Given the description of an element on the screen output the (x, y) to click on. 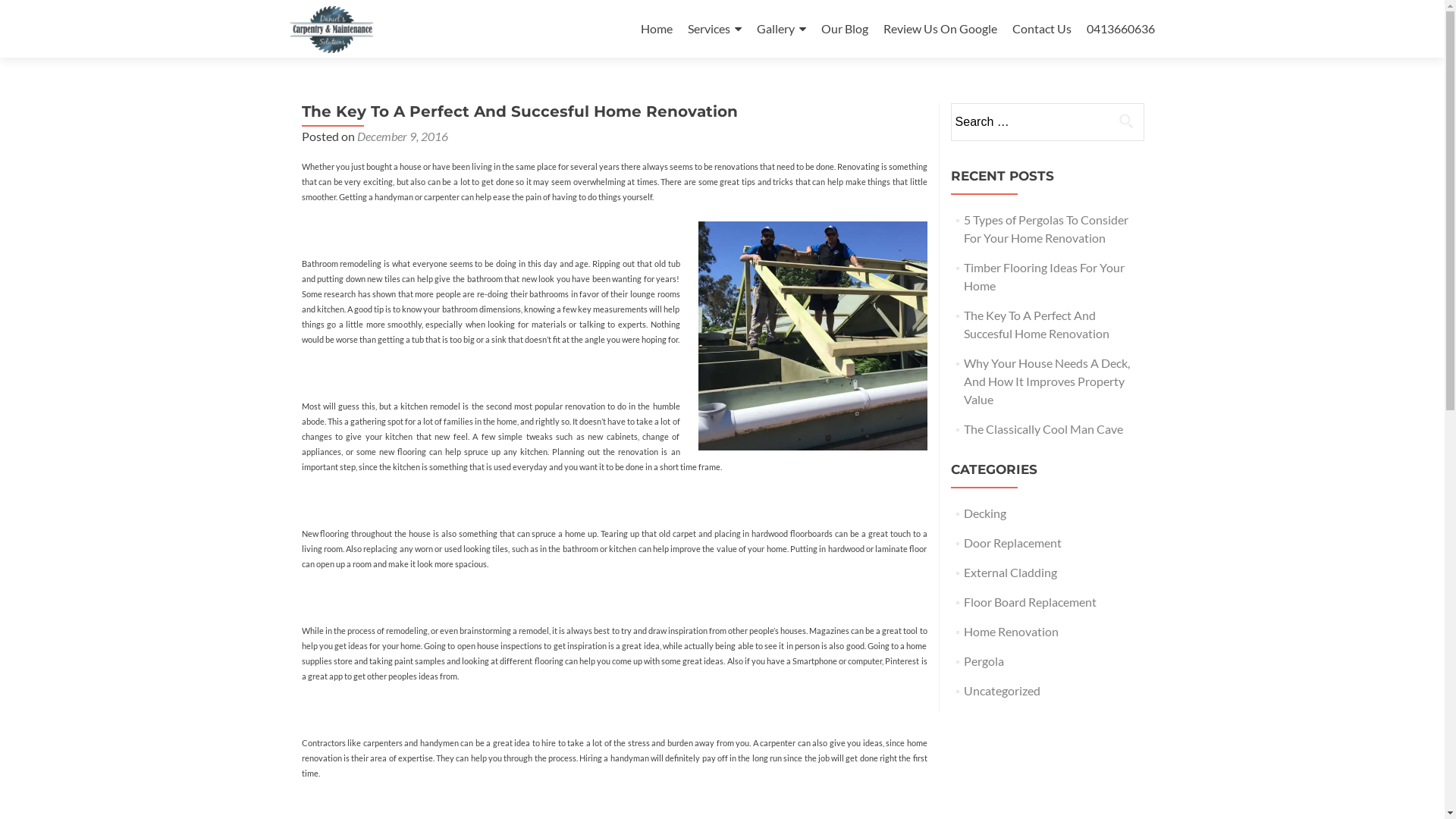
External Cladding Element type: text (1010, 571)
Pergola Element type: text (983, 660)
Home Element type: text (655, 28)
The Key To A Perfect And Succesful Home Renovation Element type: text (1036, 323)
5 Types of Pergolas To Consider For Your Home Renovation Element type: text (1045, 228)
Services Element type: text (713, 28)
Gallery Element type: text (781, 28)
Contact Us Element type: text (1040, 28)
Review Us On Google Element type: text (939, 28)
Decking Element type: text (984, 512)
Search Element type: text (1125, 120)
Uncategorized Element type: text (1001, 690)
Floor Board Replacement Element type: text (1029, 601)
Home Renovation Element type: text (1010, 631)
Door Replacement Element type: text (1012, 542)
December 9, 2016 Element type: text (401, 135)
The Classically Cool Man Cave Element type: text (1043, 428)
Our Blog Element type: text (843, 28)
0413660636 Element type: text (1119, 28)
Timber Flooring Ideas For Your Home Element type: text (1043, 276)
